Given the description of an element on the screen output the (x, y) to click on. 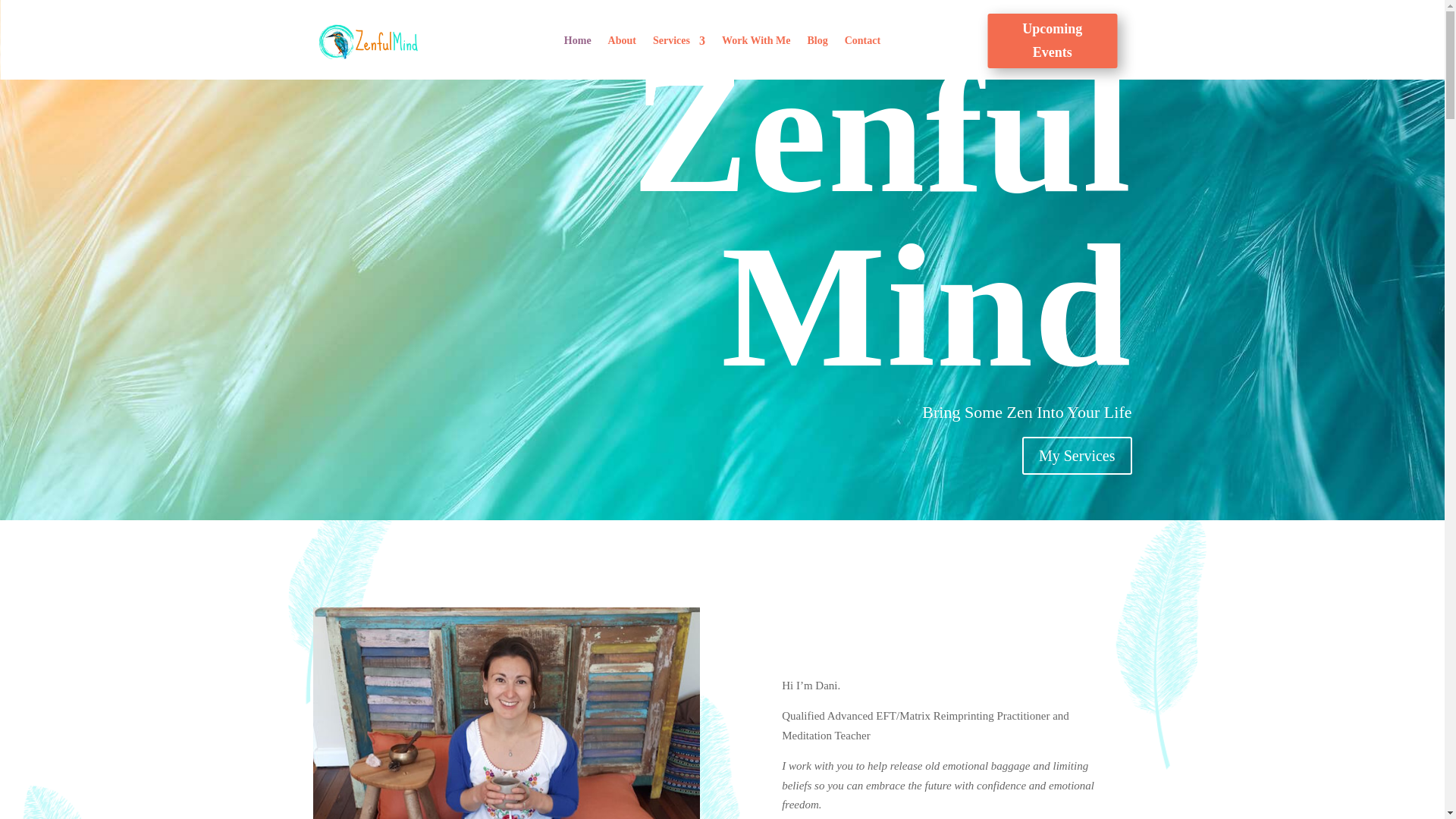
About (622, 44)
Blog (816, 44)
Services (678, 44)
Contact (862, 44)
Home (577, 44)
Work With Me (756, 44)
